Given the description of an element on the screen output the (x, y) to click on. 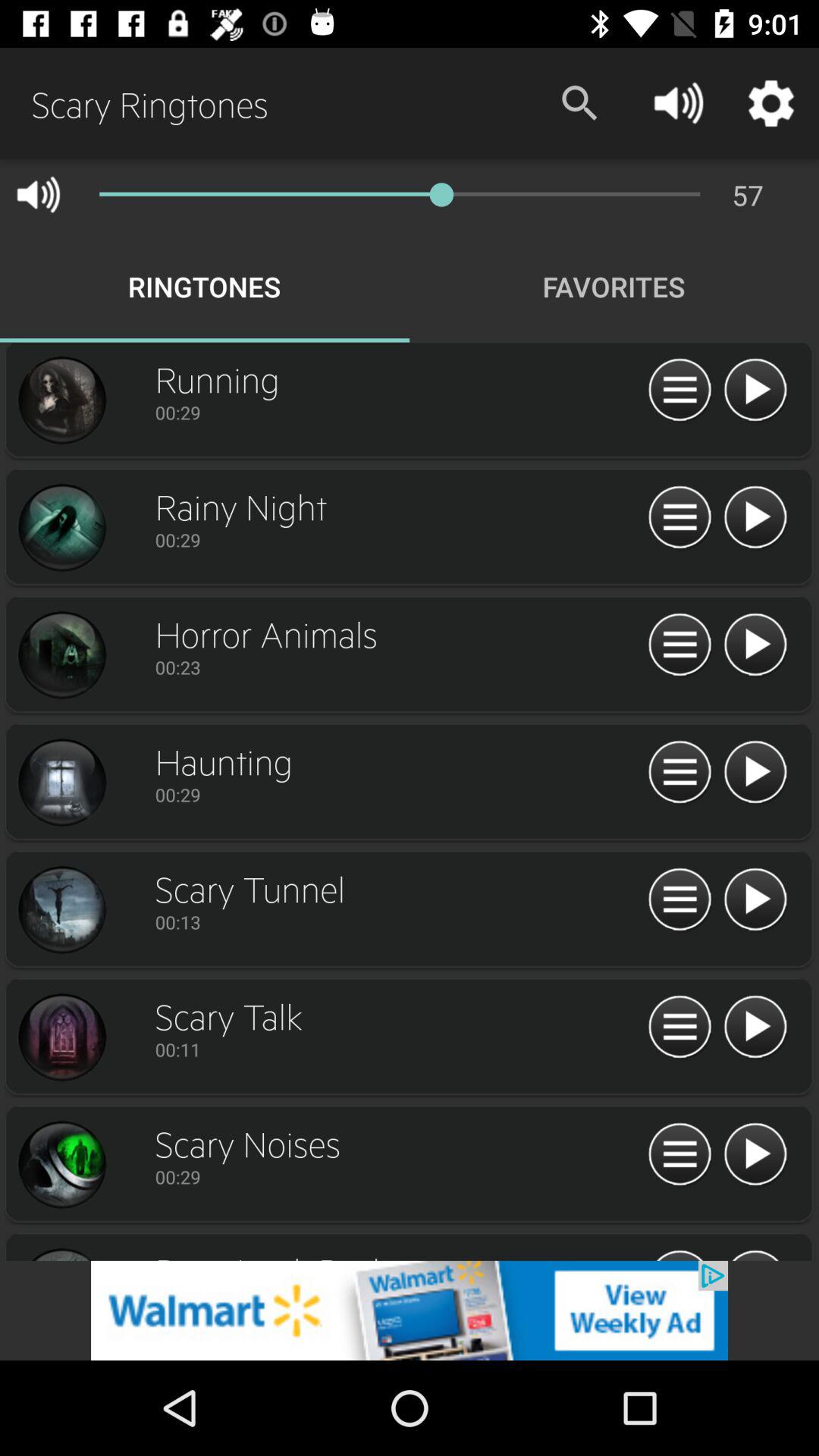
go to play (755, 390)
